Given the description of an element on the screen output the (x, y) to click on. 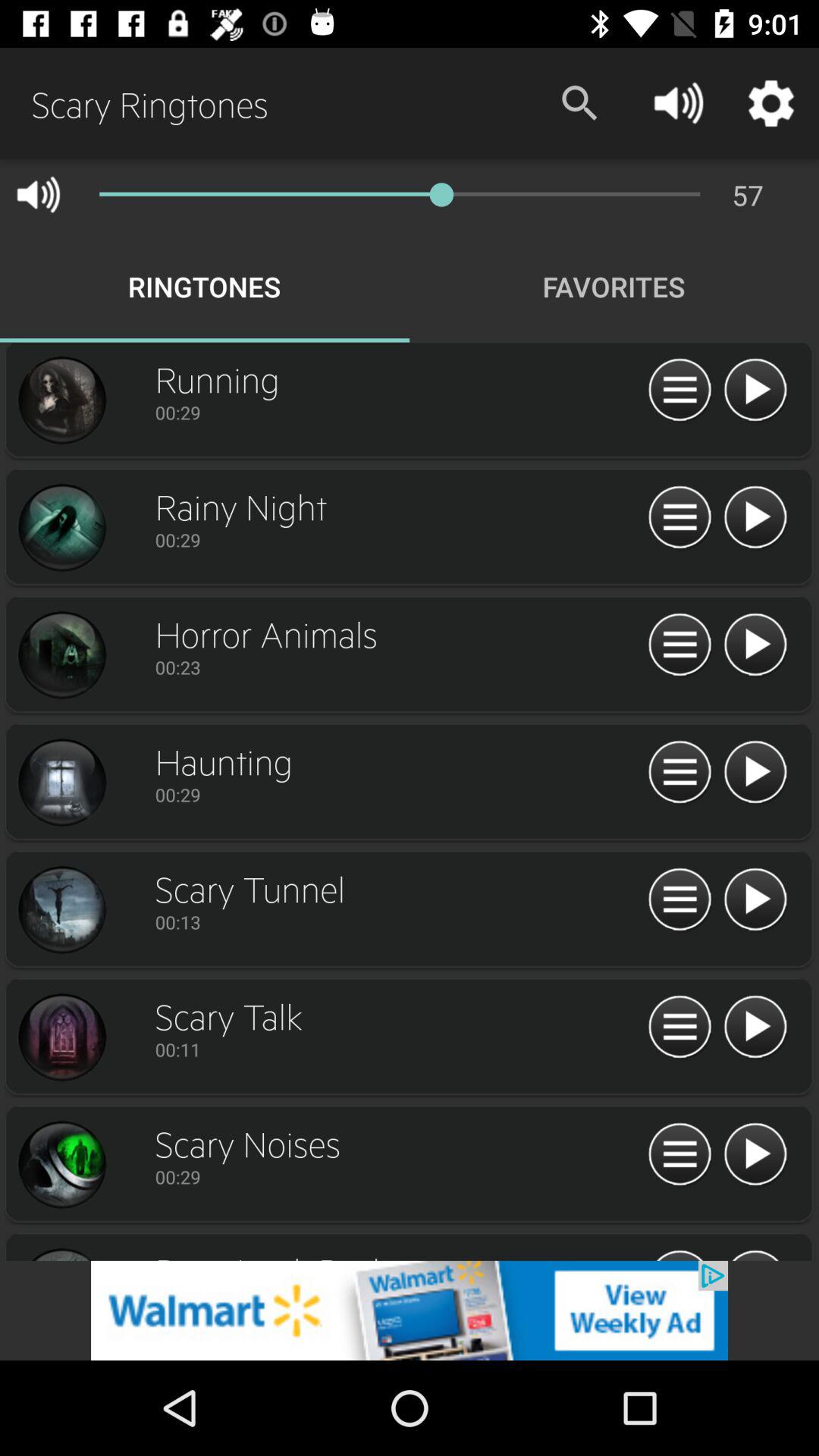
go to play (755, 390)
